Given the description of an element on the screen output the (x, y) to click on. 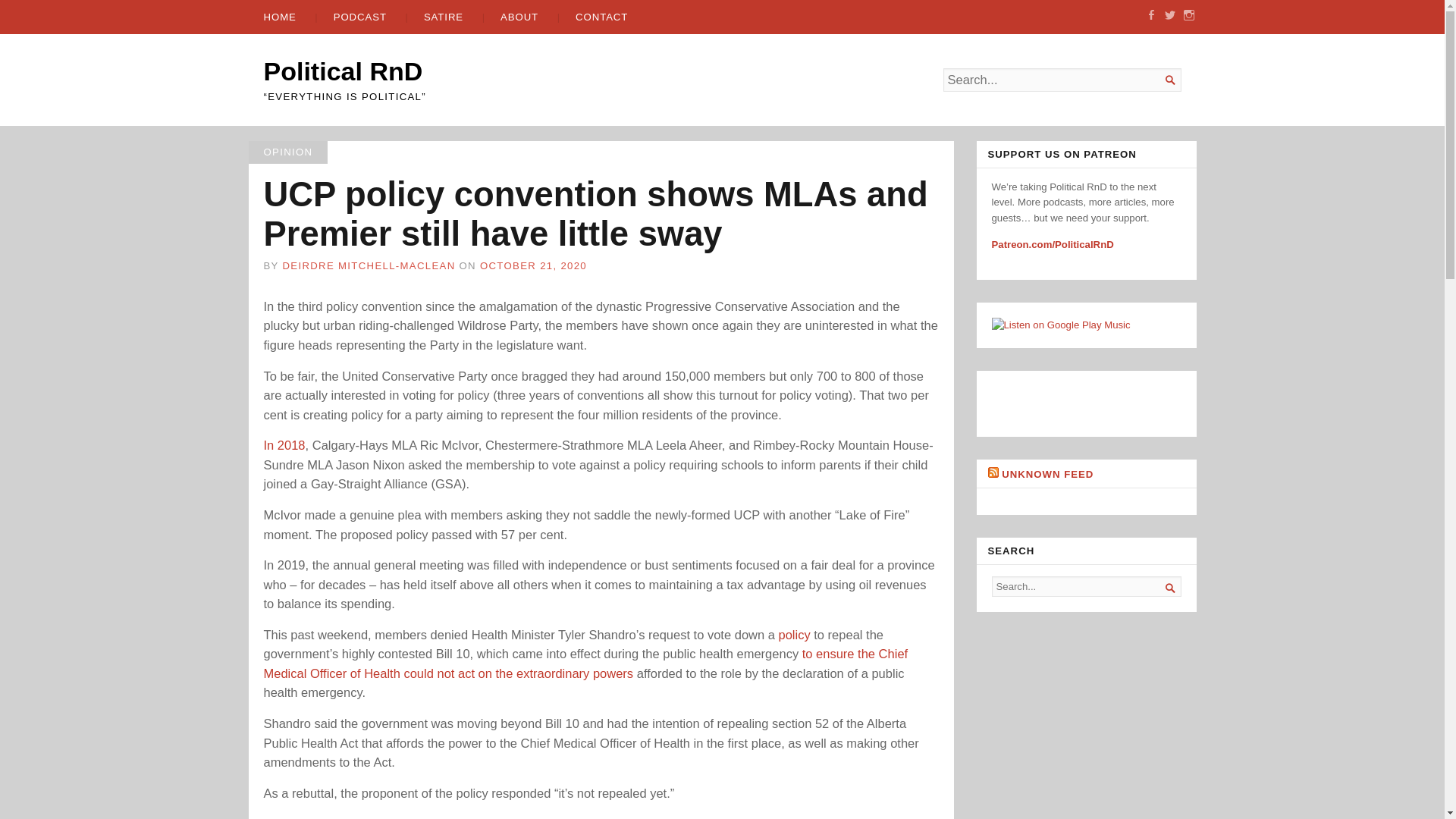
OPINION (288, 151)
HOME (280, 17)
CONTACT (593, 17)
Home (343, 70)
UNKNOWN FEED (1047, 473)
Political RnD (343, 70)
DEIRDRE MITCHELL-MACLEAN (368, 265)
OCTOBER 21, 2020 (533, 265)
SATIRE (434, 17)
